Given the description of an element on the screen output the (x, y) to click on. 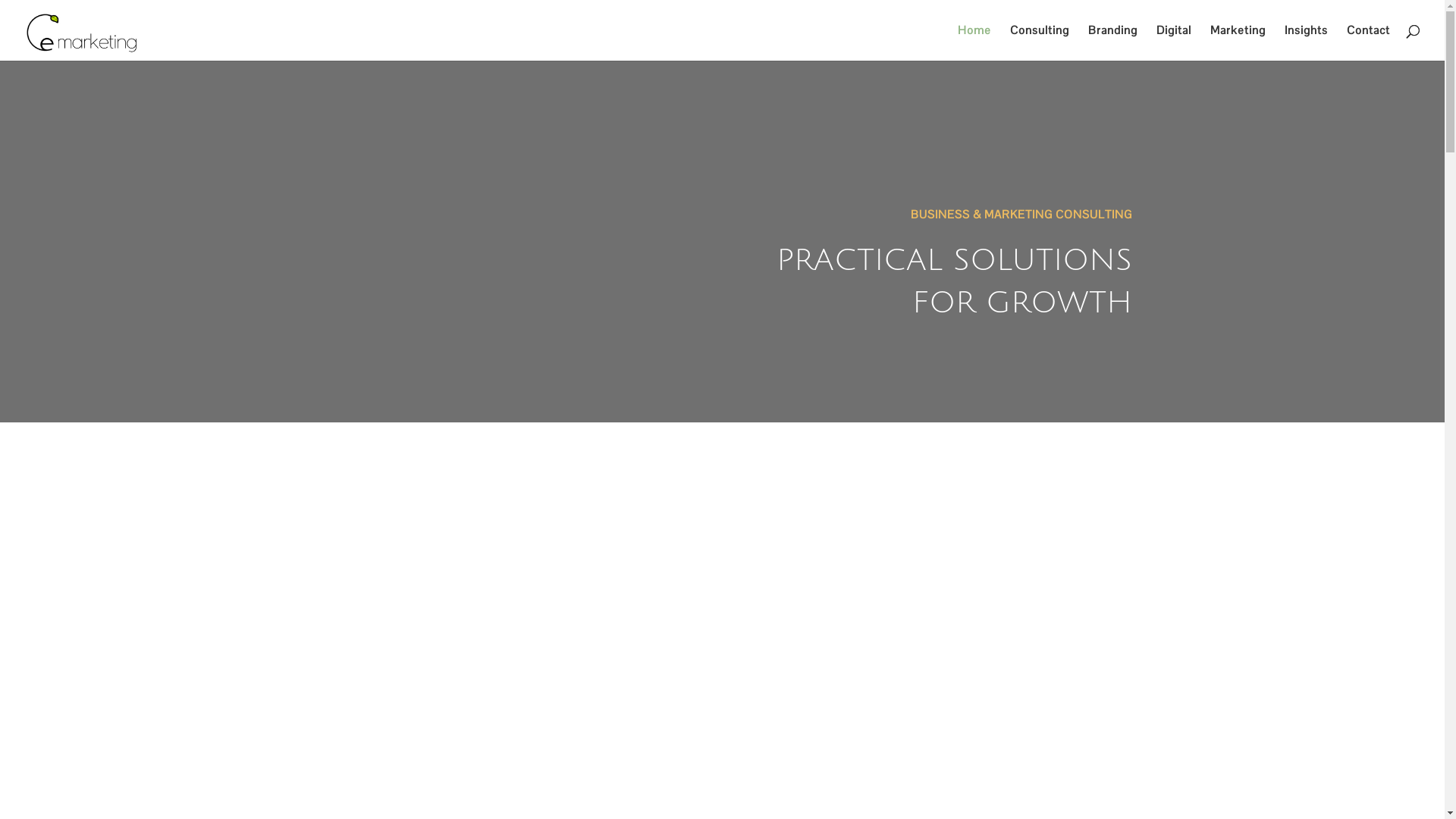
Marketing Element type: text (1237, 42)
Home Element type: text (974, 42)
Branding Element type: text (1112, 42)
Insights Element type: text (1305, 42)
Contact Element type: text (1368, 42)
Consulting Element type: text (1039, 42)
Digital Element type: text (1173, 42)
